Given the description of an element on the screen output the (x, y) to click on. 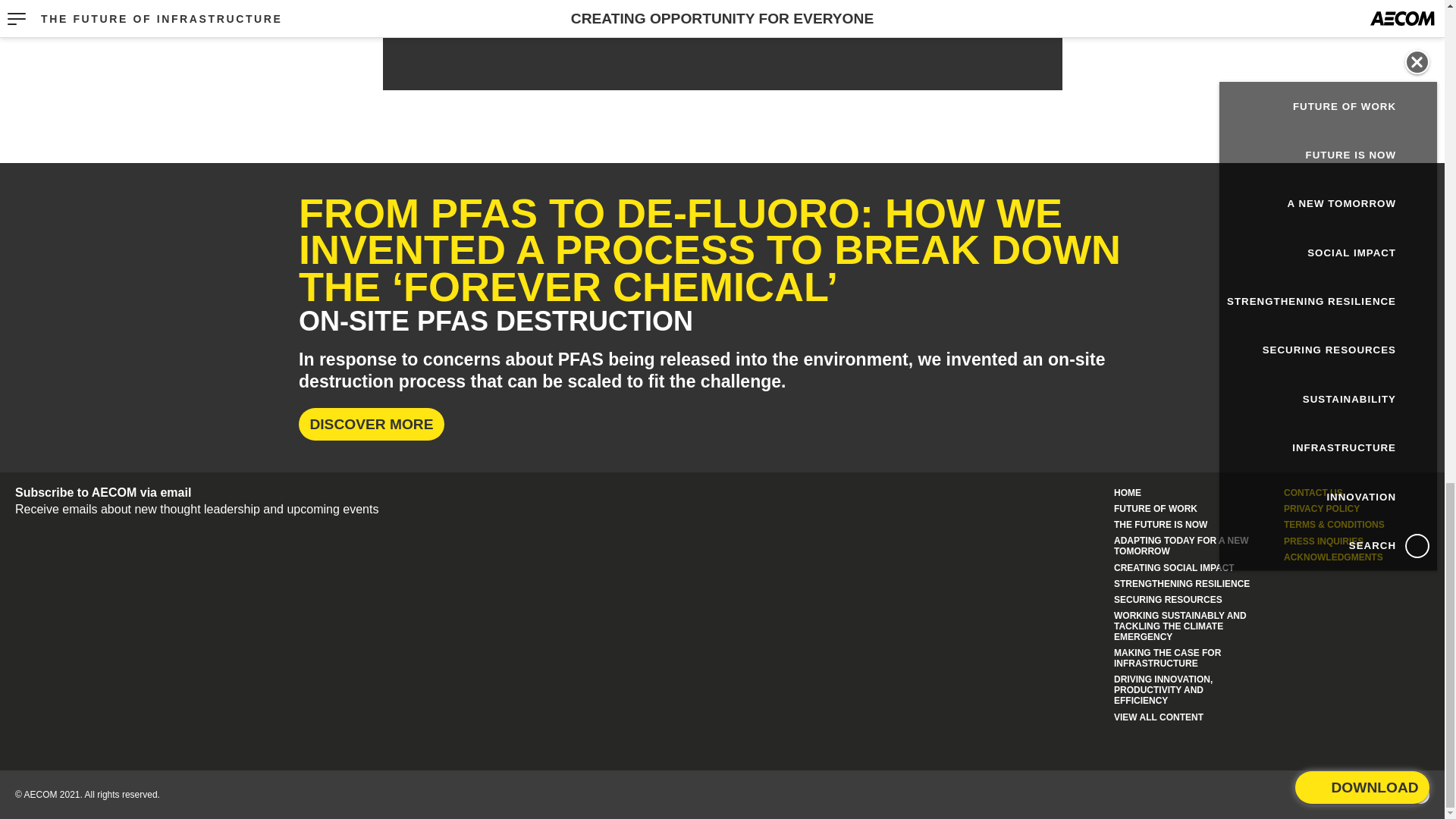
DISCOVER MORE (371, 423)
Subscribe to our podcast series Talking Infrastructure here (722, 14)
HOME (1127, 492)
